Given the description of an element on the screen output the (x, y) to click on. 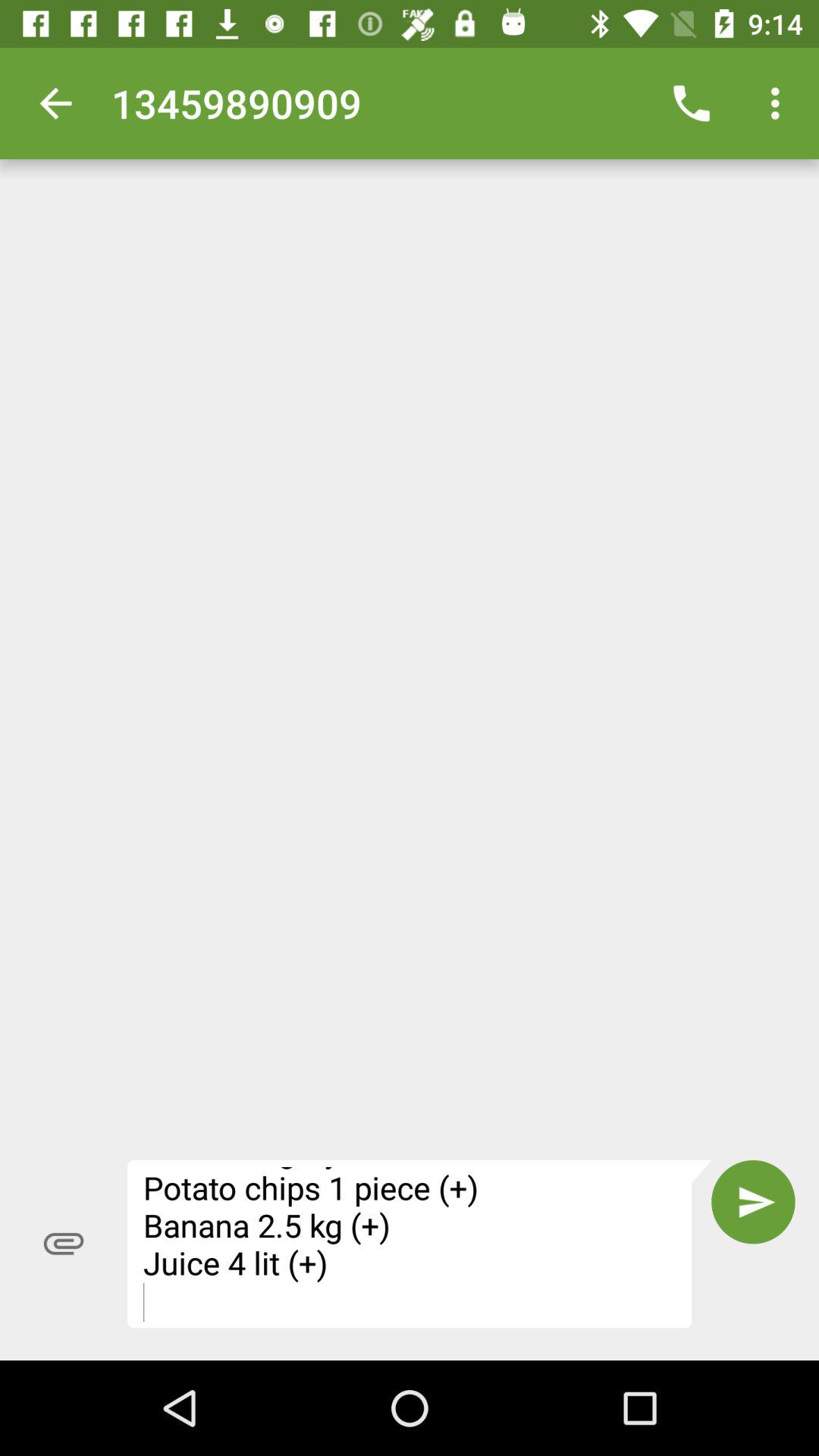
press the item at the top left corner (55, 103)
